Given the description of an element on the screen output the (x, y) to click on. 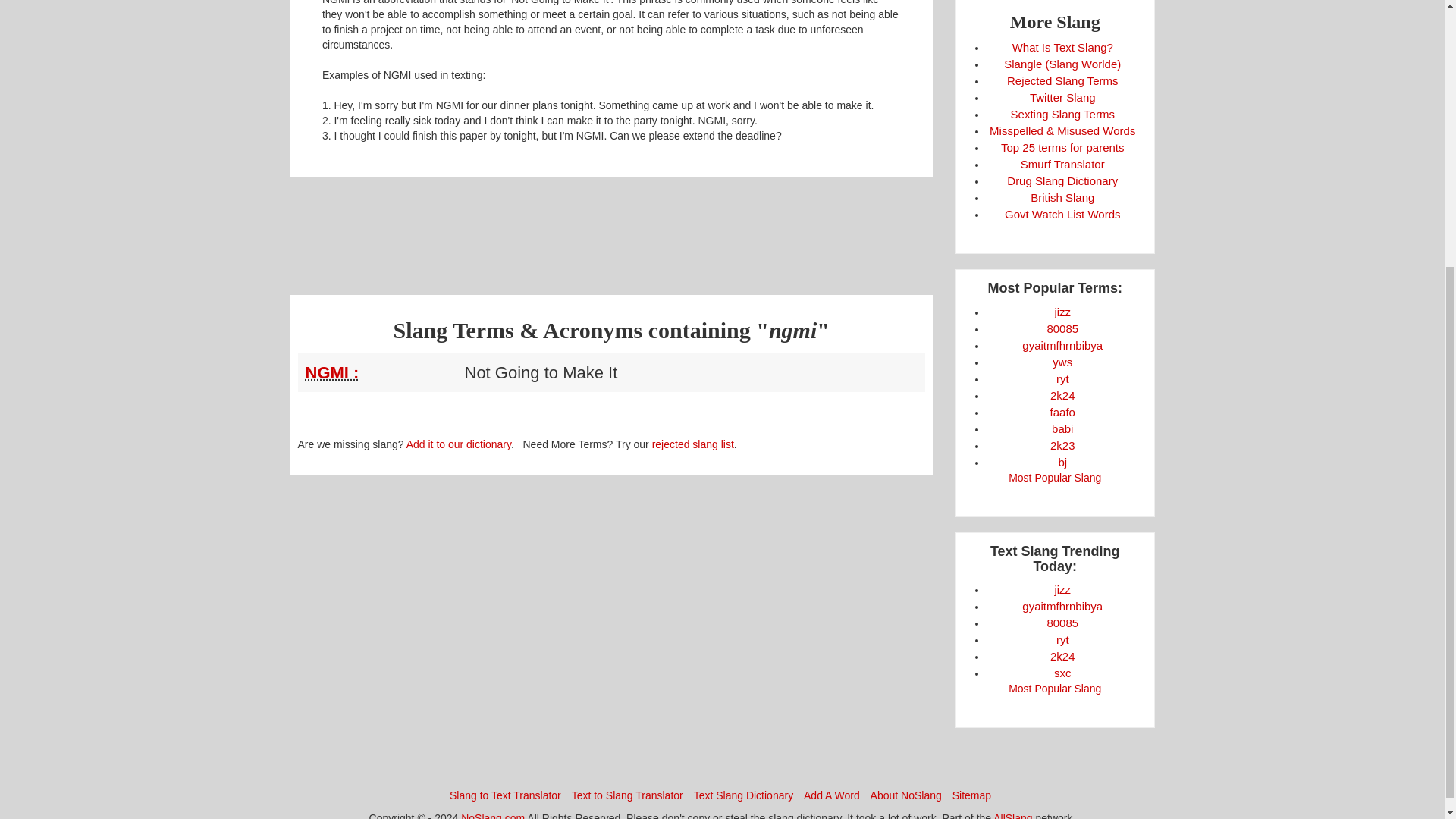
Boobs (1062, 622)
Smurf Translator (1062, 164)
sexy (1062, 672)
Not Going to Make It (380, 372)
2023 (1062, 445)
babi (1062, 428)
Drug Slang Dictionary (1062, 180)
baby (1062, 428)
Most Popular Slang (1054, 477)
NGMI : (331, 372)
jizz (1062, 311)
British Slang (1062, 196)
semen (1062, 589)
2024 (1062, 395)
